Given the description of an element on the screen output the (x, y) to click on. 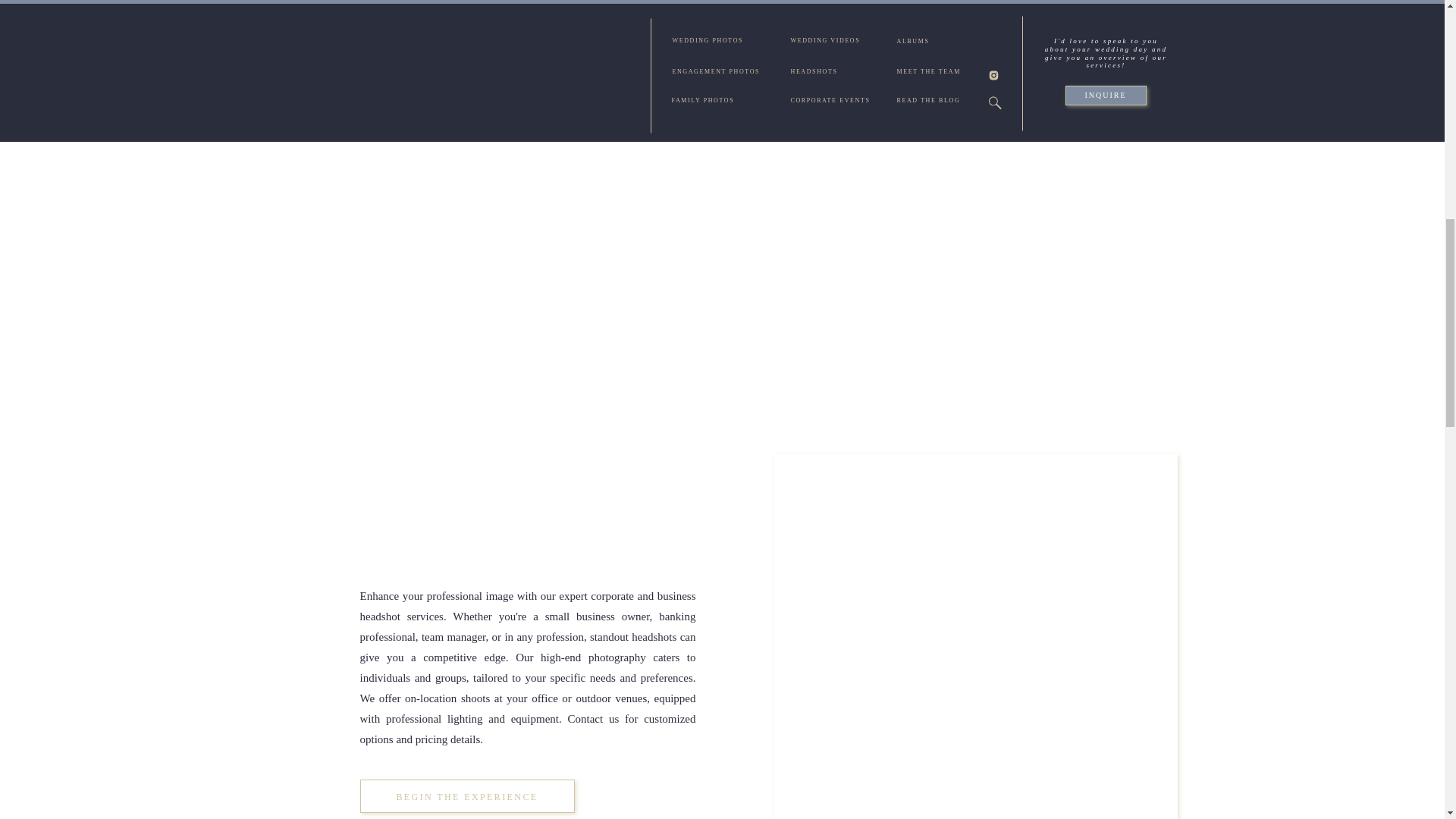
BEGIN THE EXPERIENCE (466, 796)
